Given the description of an element on the screen output the (x, y) to click on. 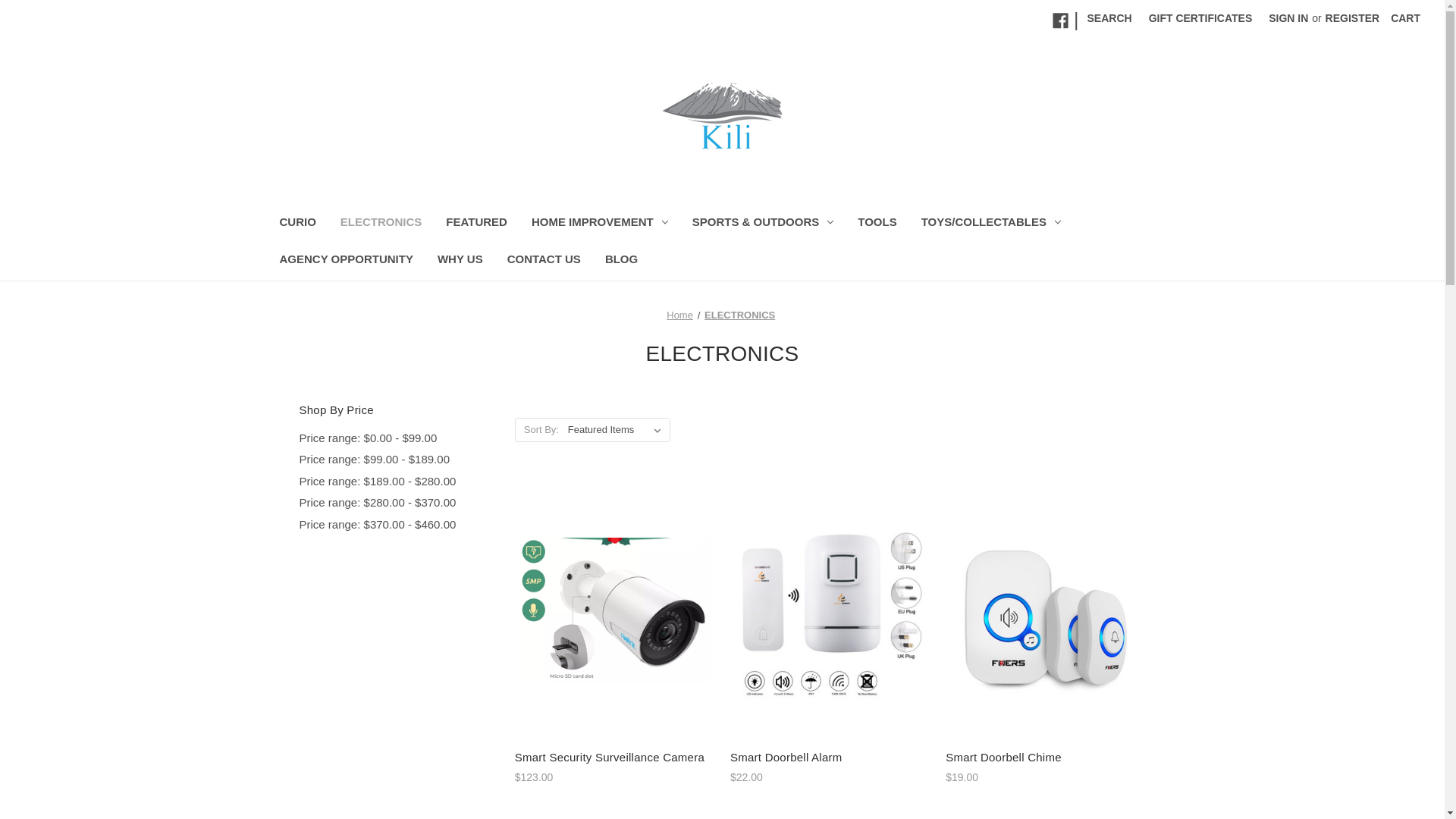
BLOG Element type: text (621, 260)
Smart Doorbell Chime Element type: hover (1044, 609)
GIFT CERTIFICATES Element type: text (1200, 18)
Kili Element type: hover (722, 119)
TOYS/COLLECTABLES Element type: text (991, 223)
CONTACT US Element type: text (544, 260)
REGISTER Element type: text (1352, 18)
Price range: $0.00 - $99.00 Element type: text (398, 438)
Price range: $99.00 - $189.00 Element type: text (398, 459)
SEARCH Element type: text (1109, 18)
AGENCY OPPORTUNITY Element type: text (345, 260)
Smart Security Surveillance Camera Element type: hover (614, 610)
CURIO Element type: text (296, 223)
WHY US Element type: text (460, 260)
Smart Doorbell Alarm Element type: hover (829, 609)
HOME IMPROVEMENT Element type: text (599, 223)
Smart Doorbell Alarm Element type: text (829, 757)
Smart Security Surveillance Camera Element type: text (614, 757)
FEATURED Element type: text (476, 223)
Price range: $189.00 - $280.00 Element type: text (398, 481)
ELECTRONICS Element type: text (381, 223)
ELECTRONICS Element type: text (739, 314)
Home Element type: text (679, 314)
CART Element type: text (1405, 18)
Smart Doorbell Chime Element type: text (1045, 757)
TOOLS Element type: text (876, 223)
Price range: $280.00 - $370.00 Element type: text (398, 503)
SPORTS & OUTDOORS Element type: text (763, 223)
SIGN IN Element type: text (1288, 18)
Price range: $370.00 - $460.00 Element type: text (398, 525)
Facebook Element type: hover (1060, 20)
